Given the description of an element on the screen output the (x, y) to click on. 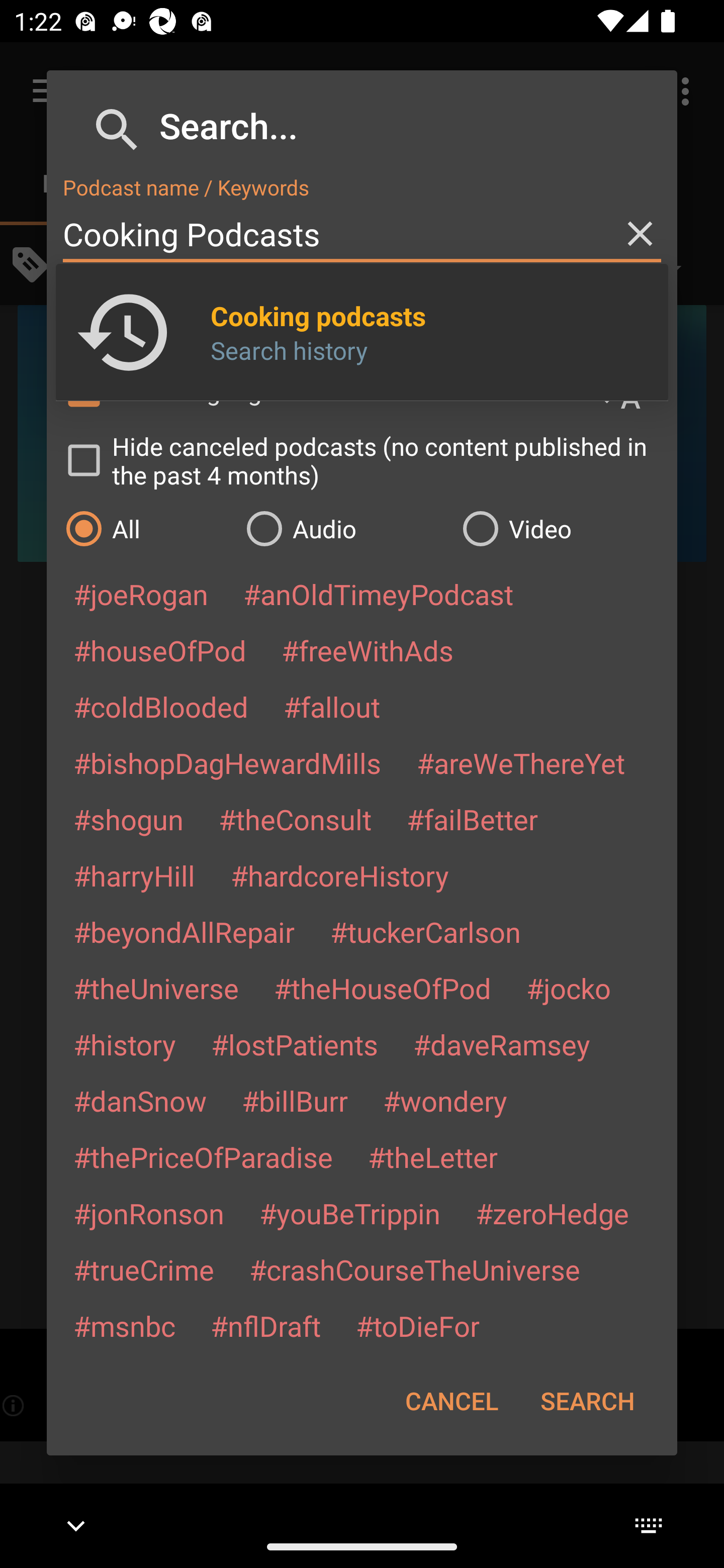
Cooking Podcasts (361, 234)
All (145, 528)
Audio (344, 528)
Video (560, 528)
#joeRogan (140, 594)
#anOldTimeyPodcast (378, 594)
#houseOfPod (159, 650)
#freeWithAds (367, 650)
#coldBlooded (160, 705)
#fallout (331, 705)
#bishopDagHewardMills (227, 762)
#areWeThereYet (521, 762)
#shogun (128, 818)
#theConsult (294, 818)
#failBetter (471, 818)
#harryHill (134, 875)
#hardcoreHistory (339, 875)
#beyondAllRepair (184, 931)
#tuckerCarlson (425, 931)
#theUniverse (155, 987)
#theHouseOfPod (381, 987)
#jocko (568, 987)
#history (124, 1044)
#lostPatients (294, 1044)
#daveRamsey (501, 1044)
#danSnow (139, 1100)
#billBurr (294, 1100)
#wondery (444, 1100)
#thePriceOfParadise (203, 1157)
#theLetter (432, 1157)
#jonRonson (148, 1213)
#youBeTrippin (349, 1213)
#zeroHedge (552, 1213)
#trueCrime (143, 1268)
#crashCourseTheUniverse (414, 1268)
#msnbc (124, 1325)
#nflDraft (265, 1325)
#toDieFor (417, 1325)
CANCEL (451, 1400)
SEARCH (587, 1400)
